Given the description of an element on the screen output the (x, y) to click on. 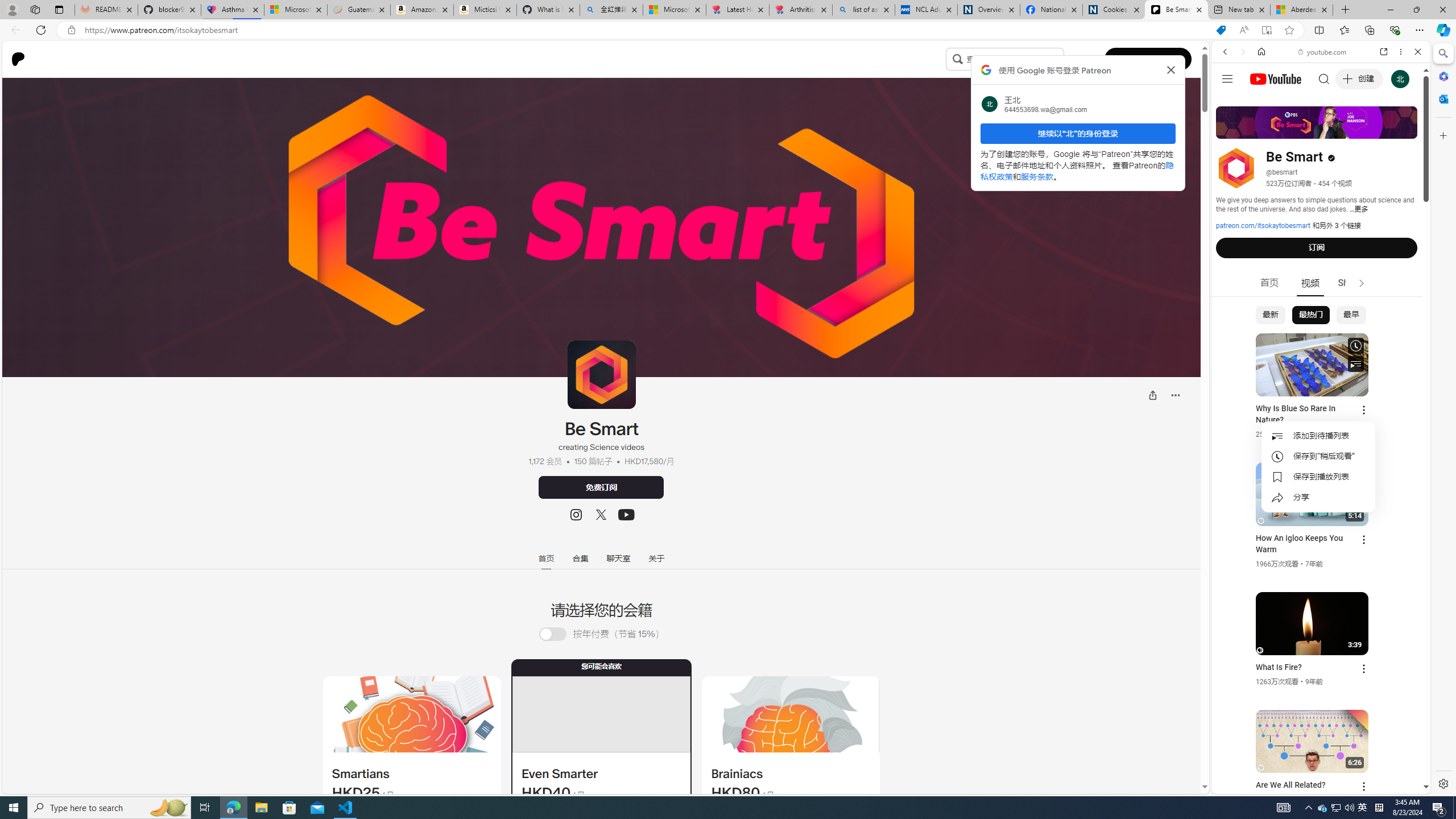
Class: sc-1a2jhmw-3 djwfLg (790, 713)
Class: sc-gUQvok bqiJlM (1061, 58)
you (1315, 755)
Show More Music (1390, 310)
